Given the description of an element on the screen output the (x, y) to click on. 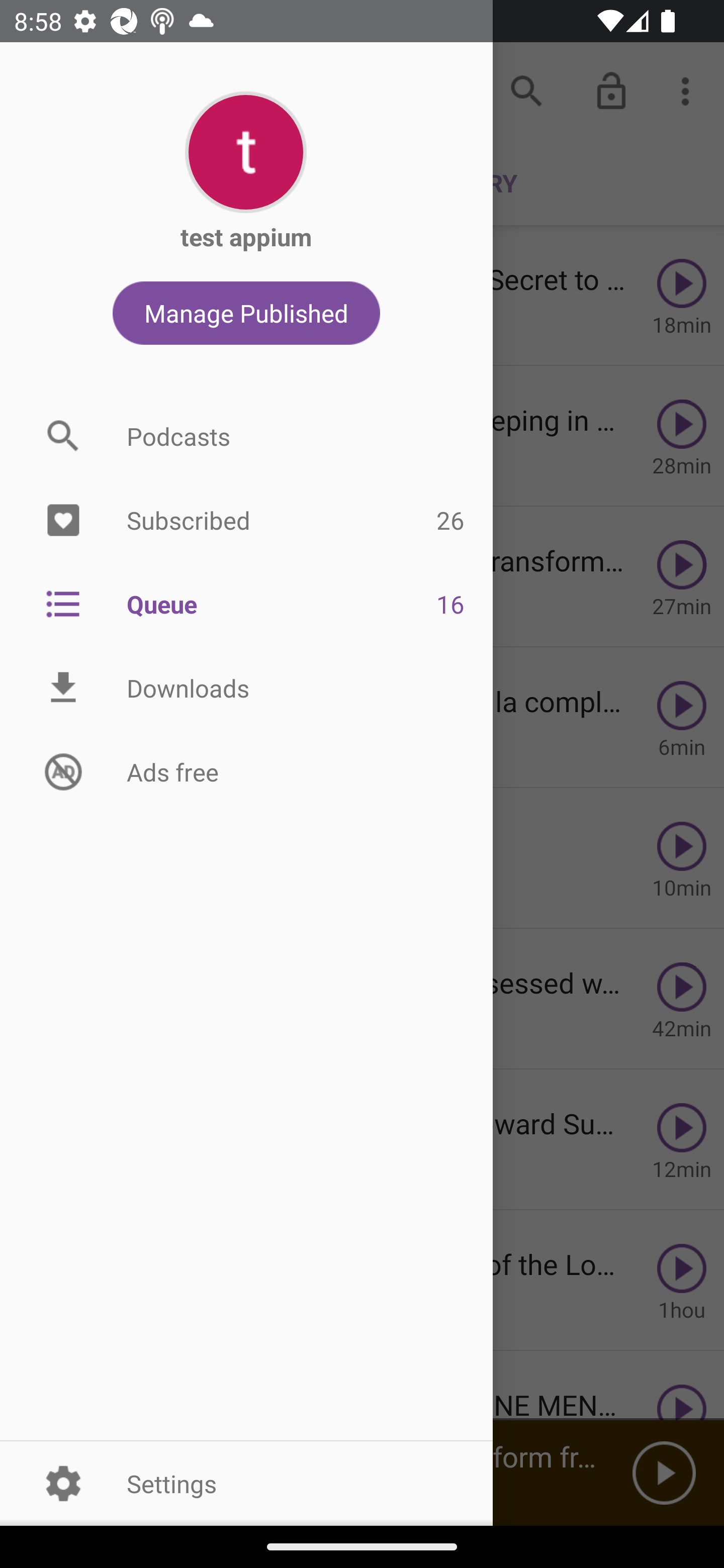
Manage Published (246, 312)
Picture Podcasts (246, 435)
Picture Subscribed 26 (246, 520)
Picture Queue 16 (246, 603)
Picture Downloads (246, 688)
Picture Ads free (246, 771)
Settings Picture Settings (246, 1482)
